Given the description of an element on the screen output the (x, y) to click on. 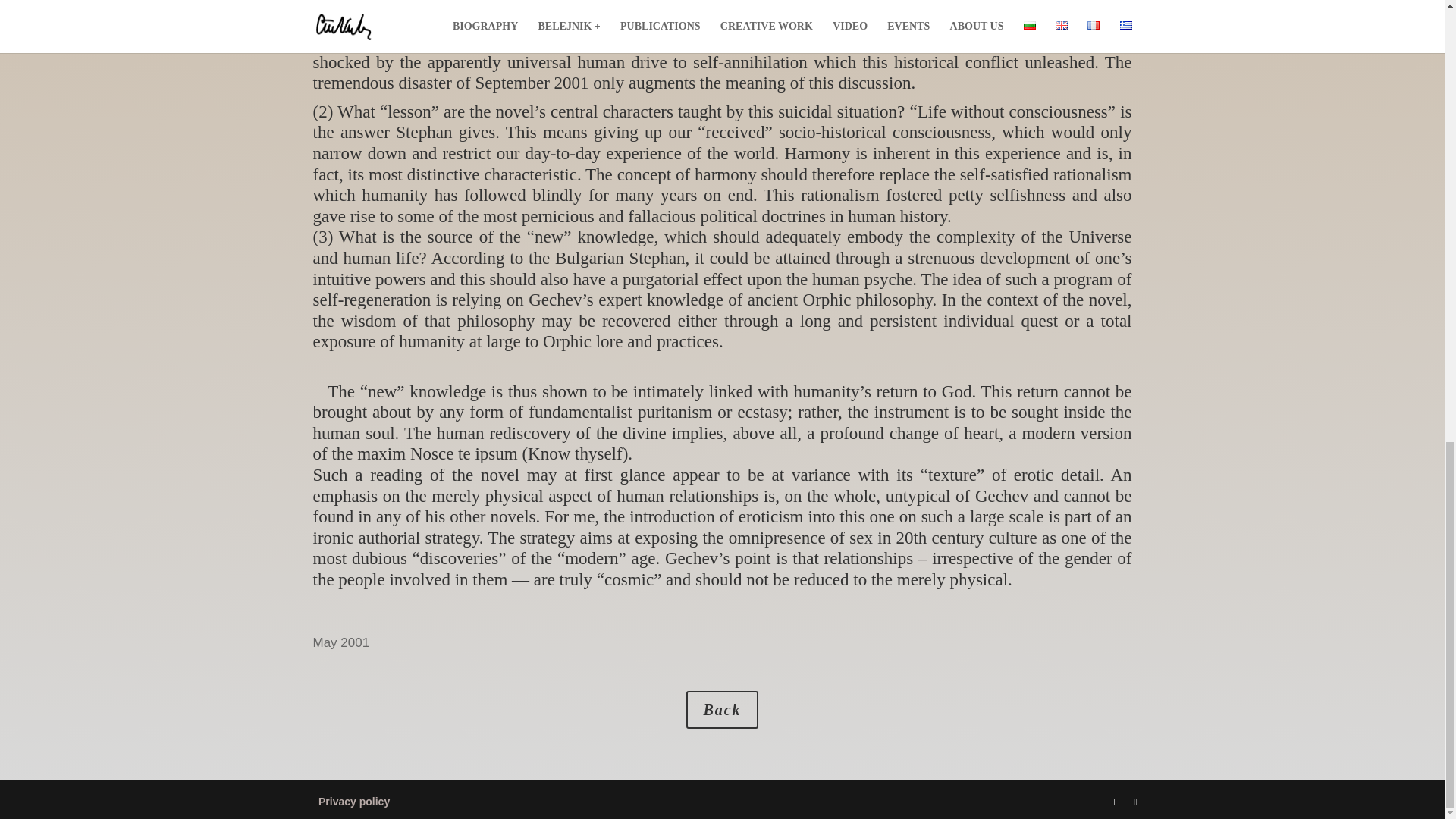
Back (721, 709)
